Given the description of an element on the screen output the (x, y) to click on. 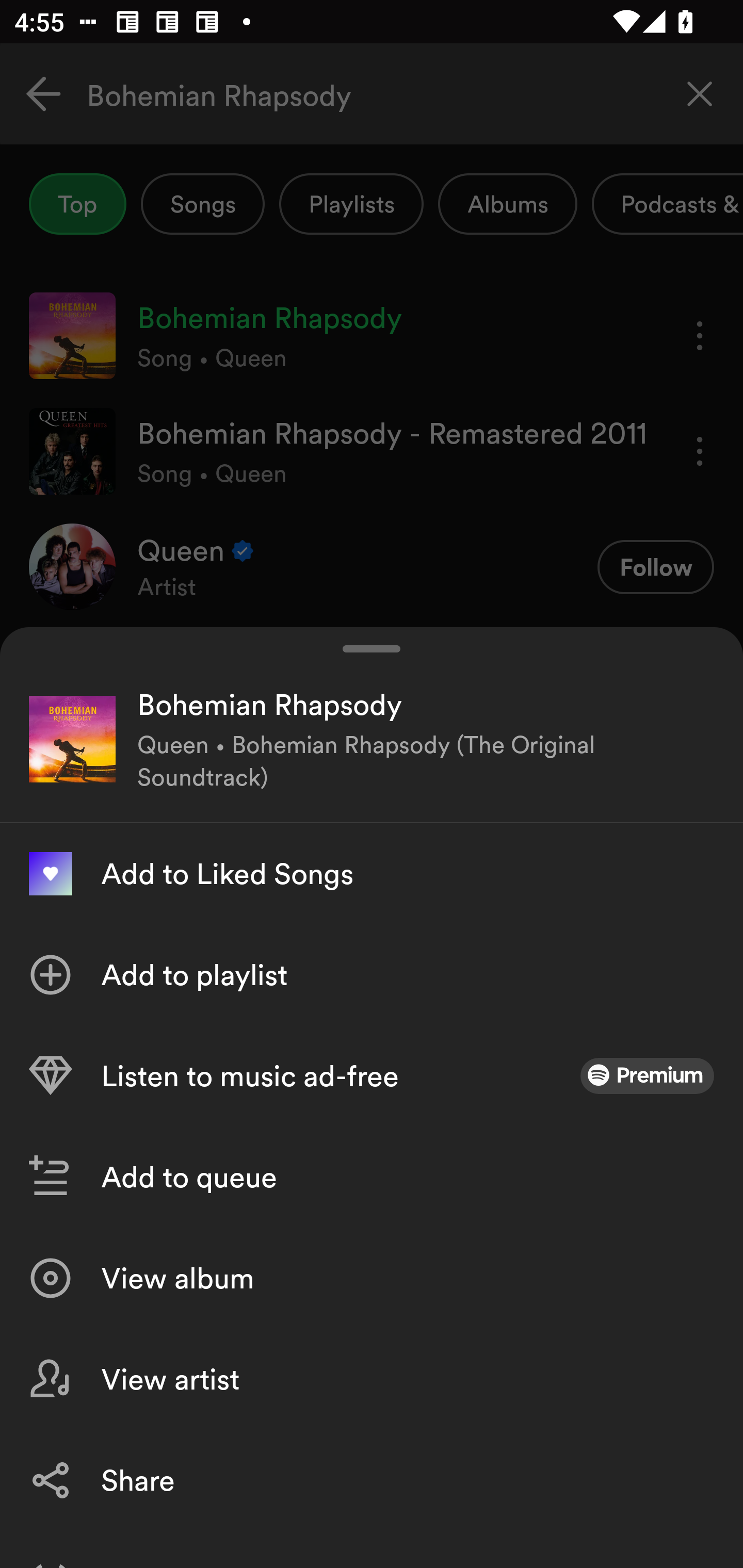
Add to Liked Songs (371, 873)
Add to playlist (371, 974)
Listen to music ad-free (371, 1075)
Add to queue (371, 1176)
View album (371, 1277)
View artist (371, 1379)
Share (371, 1480)
